Given the description of an element on the screen output the (x, y) to click on. 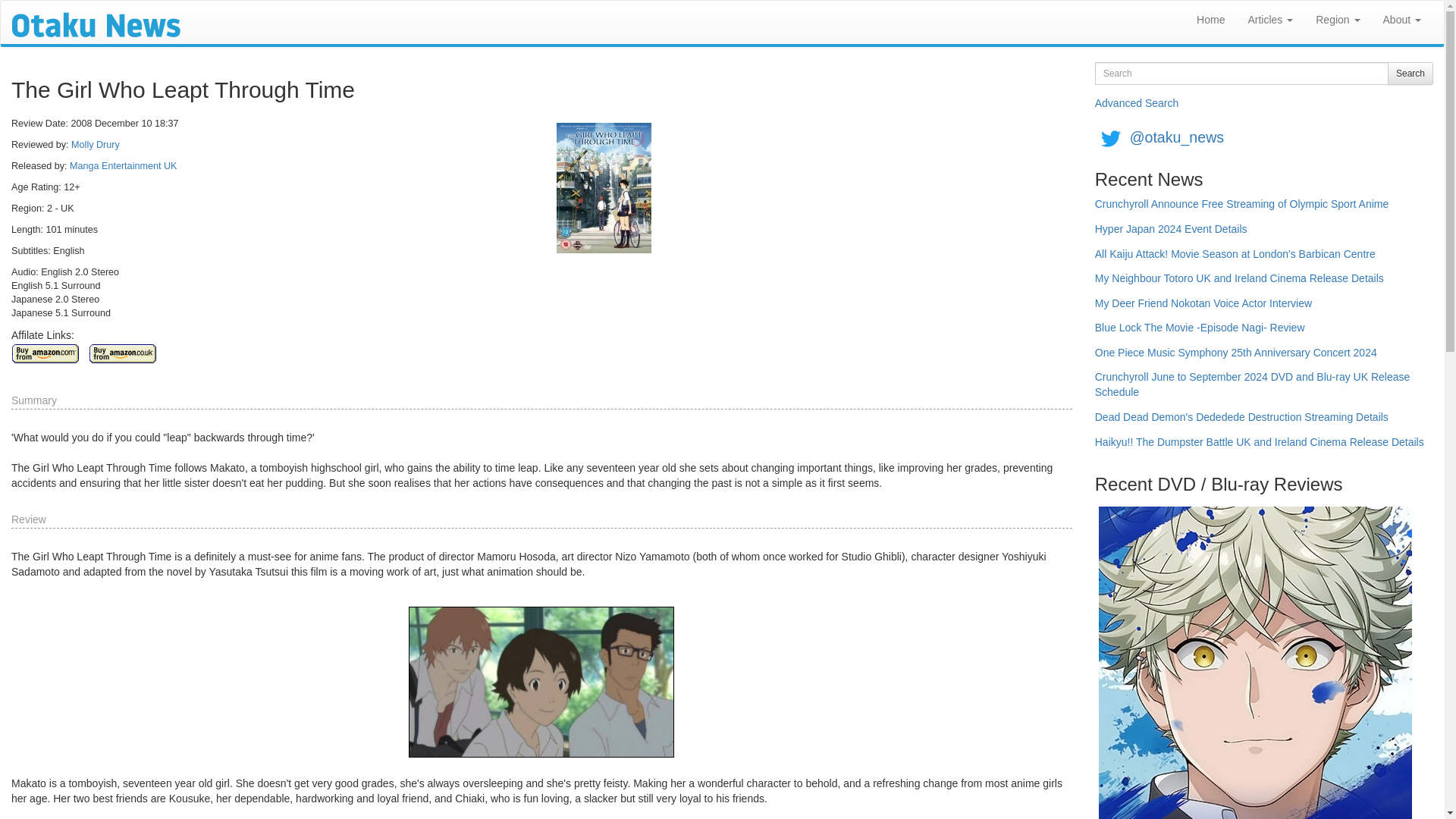
Home (1210, 19)
Region (1337, 19)
Hyper Japan 2024 Event Details (1170, 234)
One Piece Music Symphony 25th Anniversary Concert 2024 (1235, 358)
Articles (1270, 19)
Blue Lock The Movie -Episode Nagi- Review (1199, 333)
My Deer Friend Nokotan Voice Actor Interview (1202, 308)
Search (1409, 73)
Advanced Search (1136, 102)
Crunchyroll Announce Free Streaming of Olympic Sport Anime (1241, 209)
About (1401, 19)
Manga Entertainment UK (122, 165)
Dead Dead Demon's Dededede Destruction Streaming Details (1241, 422)
My Neighbour Totoro UK and Ireland Cinema Release Details (1239, 283)
